Given the description of an element on the screen output the (x, y) to click on. 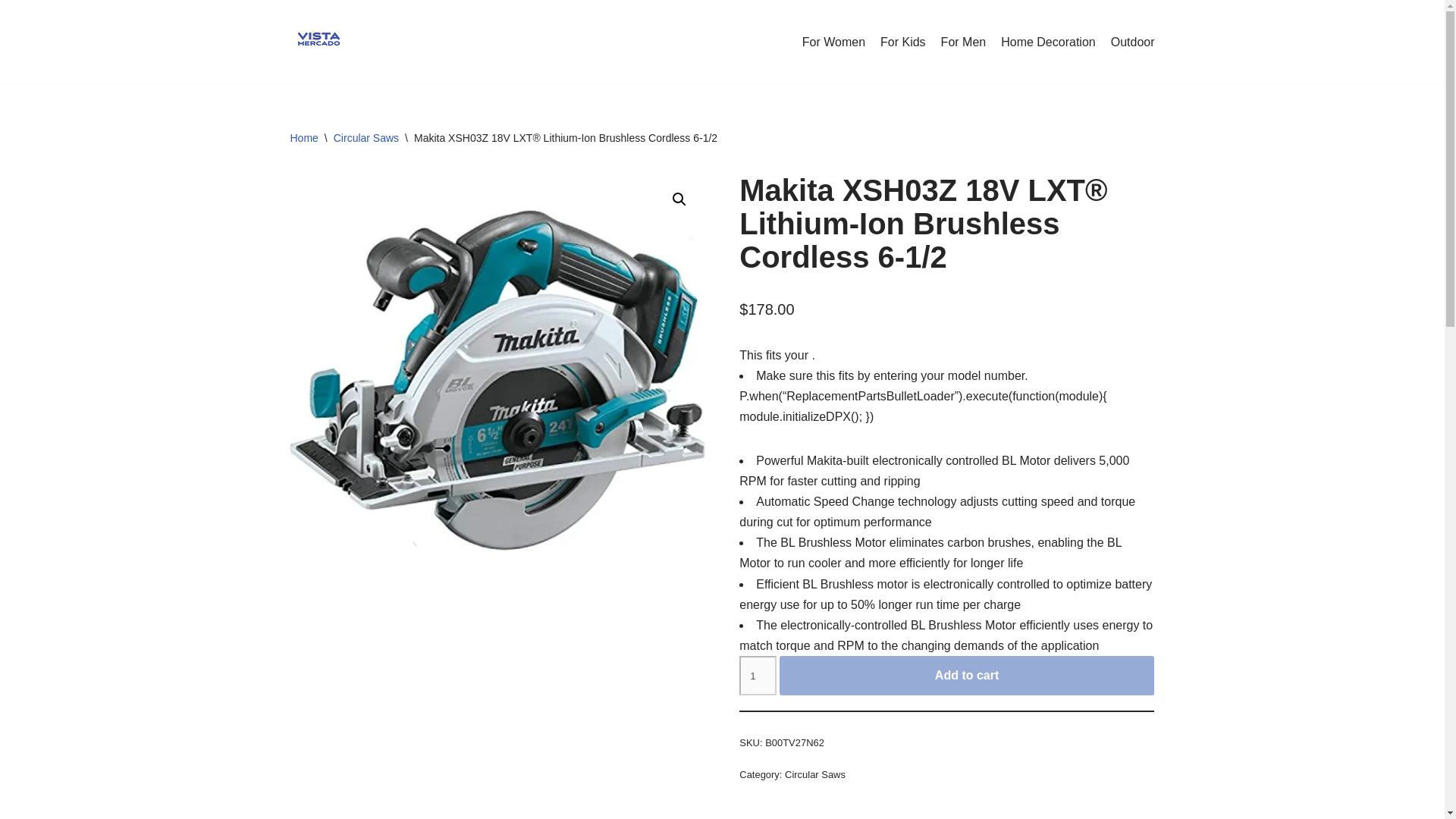
For Women (833, 42)
Circular Saws (365, 137)
Qty (757, 675)
Outdoor (1132, 42)
Advertisement (946, 816)
Home Decoration (1048, 42)
Circular Saws (814, 774)
For Kids (903, 42)
Skip to content (11, 31)
For Men (963, 42)
Add to cart (966, 675)
Home (303, 137)
Vista Mercado E-Commerce (317, 41)
1 (757, 675)
